Given the description of an element on the screen output the (x, y) to click on. 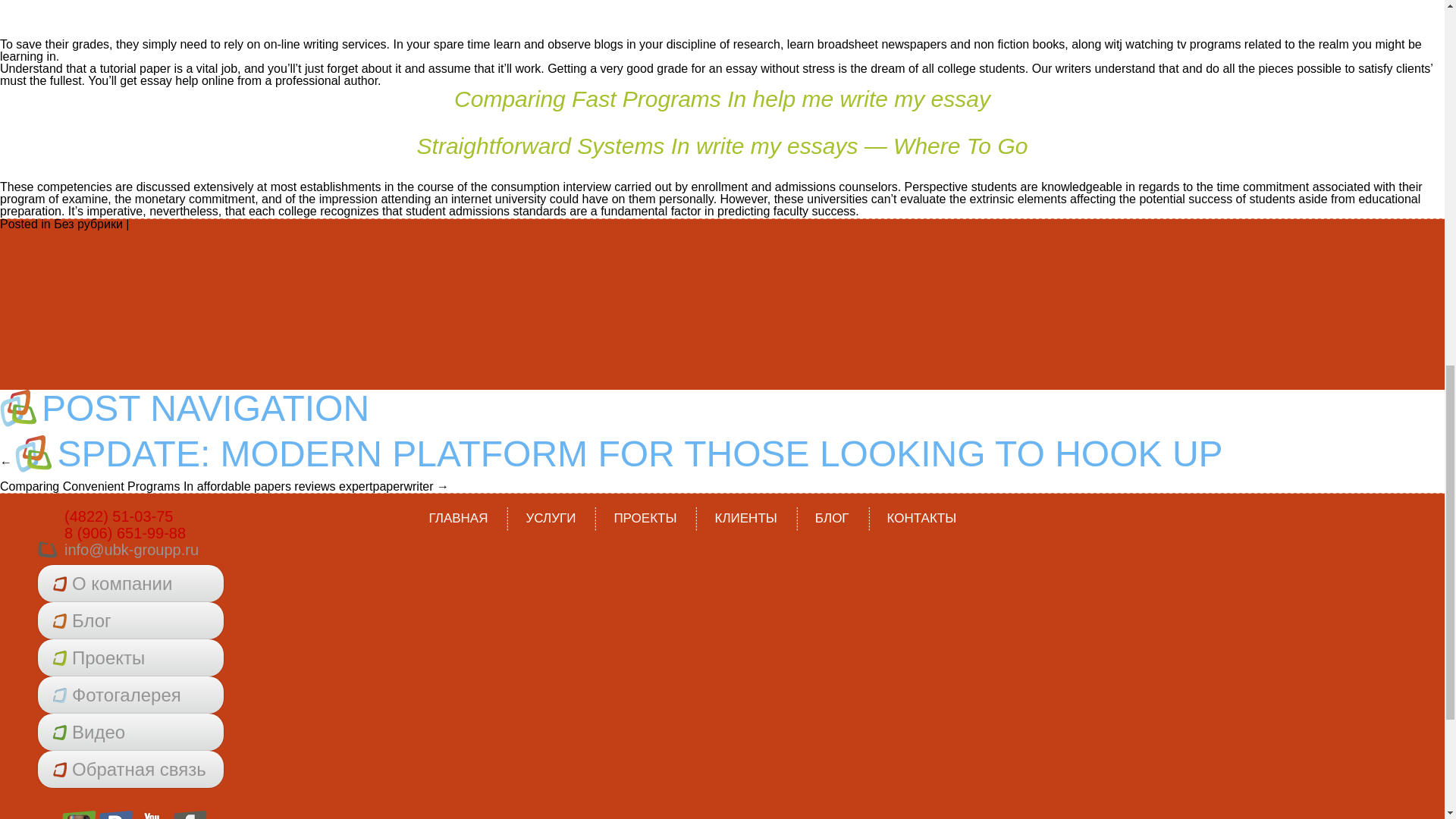
vkontakte (116, 814)
instagram (79, 814)
youtube (153, 814)
vkontakte (116, 814)
facebook (190, 814)
youtube (153, 814)
instagram (79, 814)
facebook (190, 814)
